Given the description of an element on the screen output the (x, y) to click on. 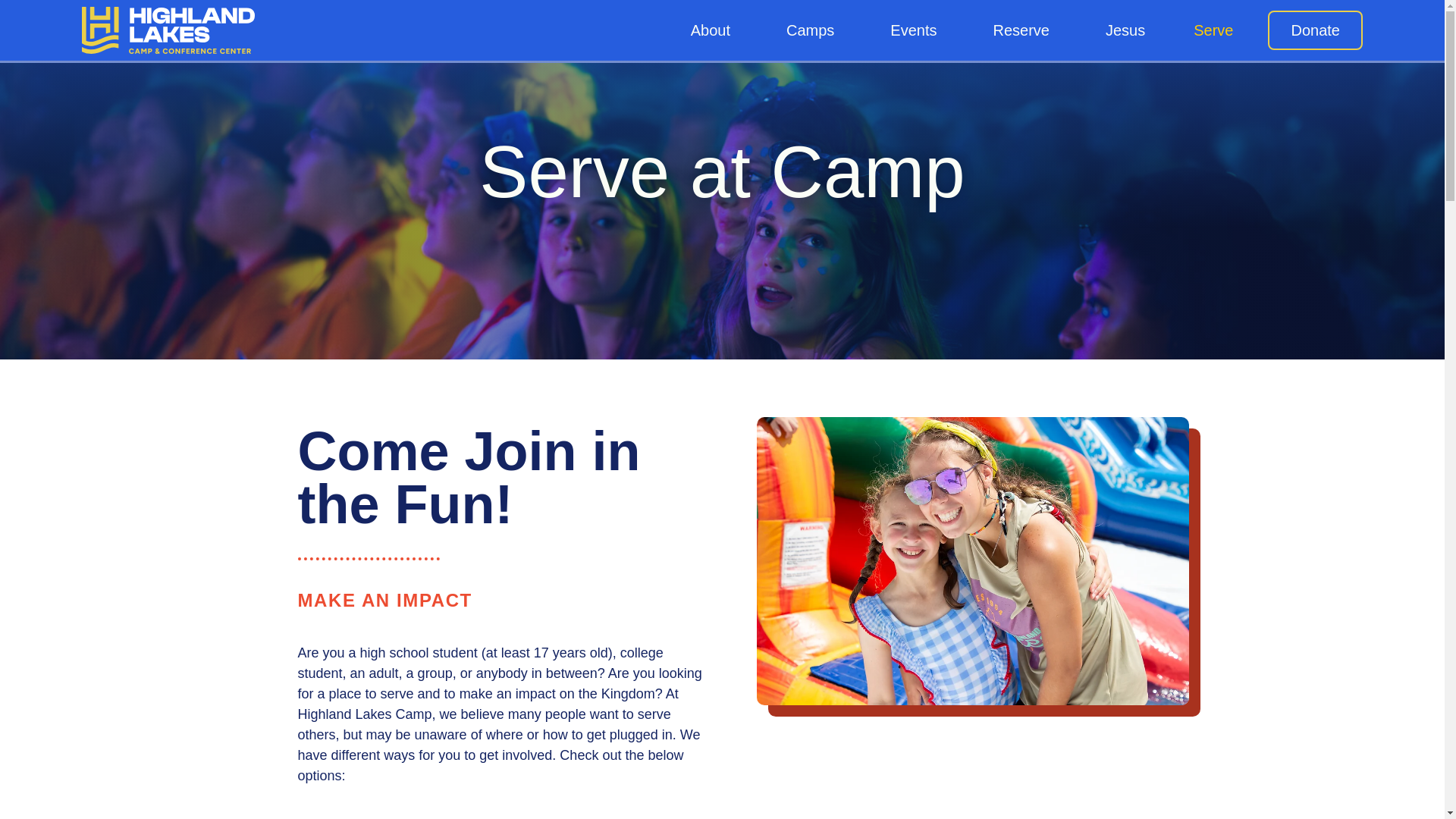
Serve (1217, 29)
Events (917, 29)
Jesus (1125, 29)
About (713, 29)
Donate (1315, 29)
Reserve (1025, 29)
Camps (814, 29)
